Given the description of an element on the screen output the (x, y) to click on. 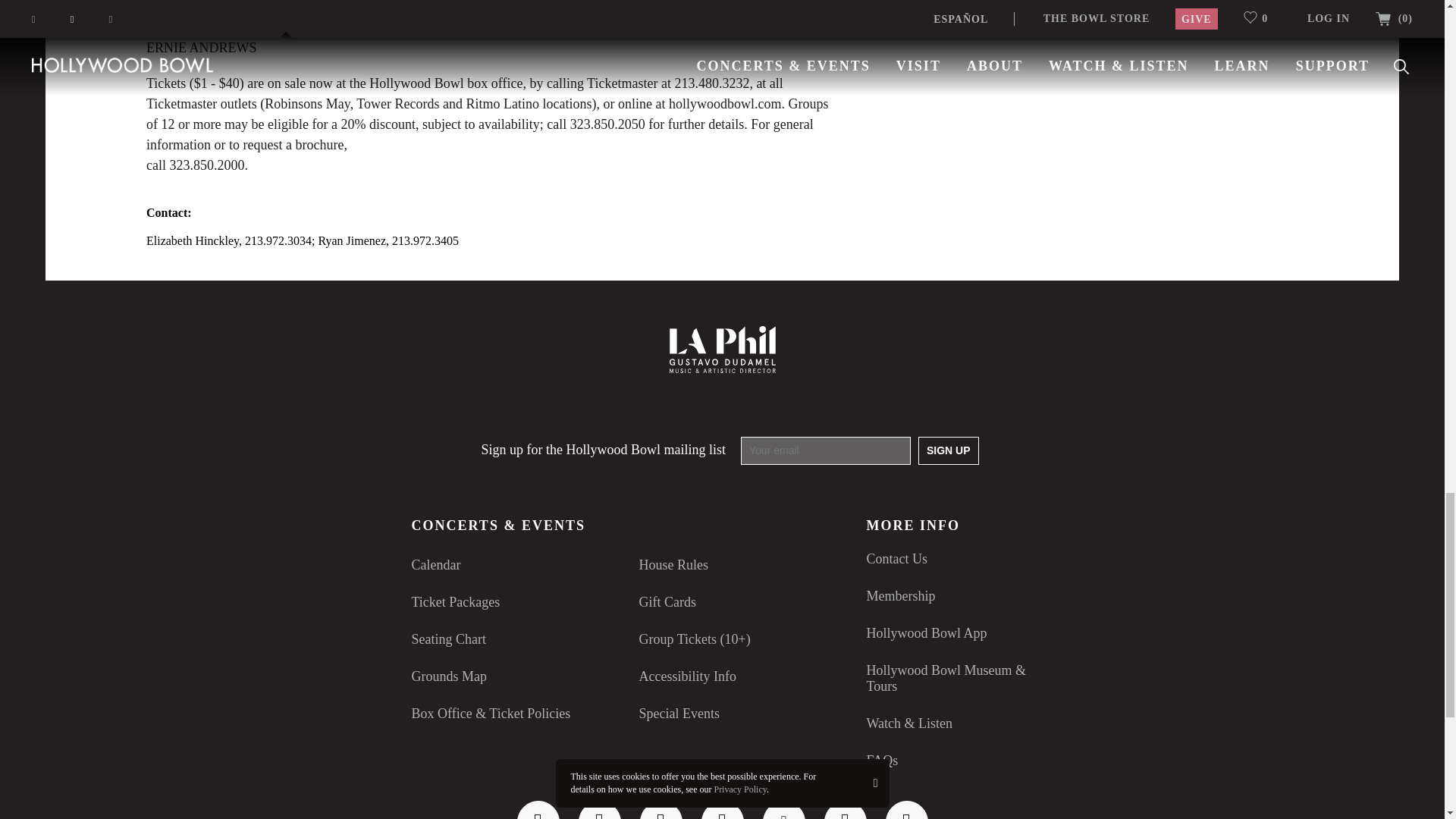
Sign Up (948, 450)
